Given the description of an element on the screen output the (x, y) to click on. 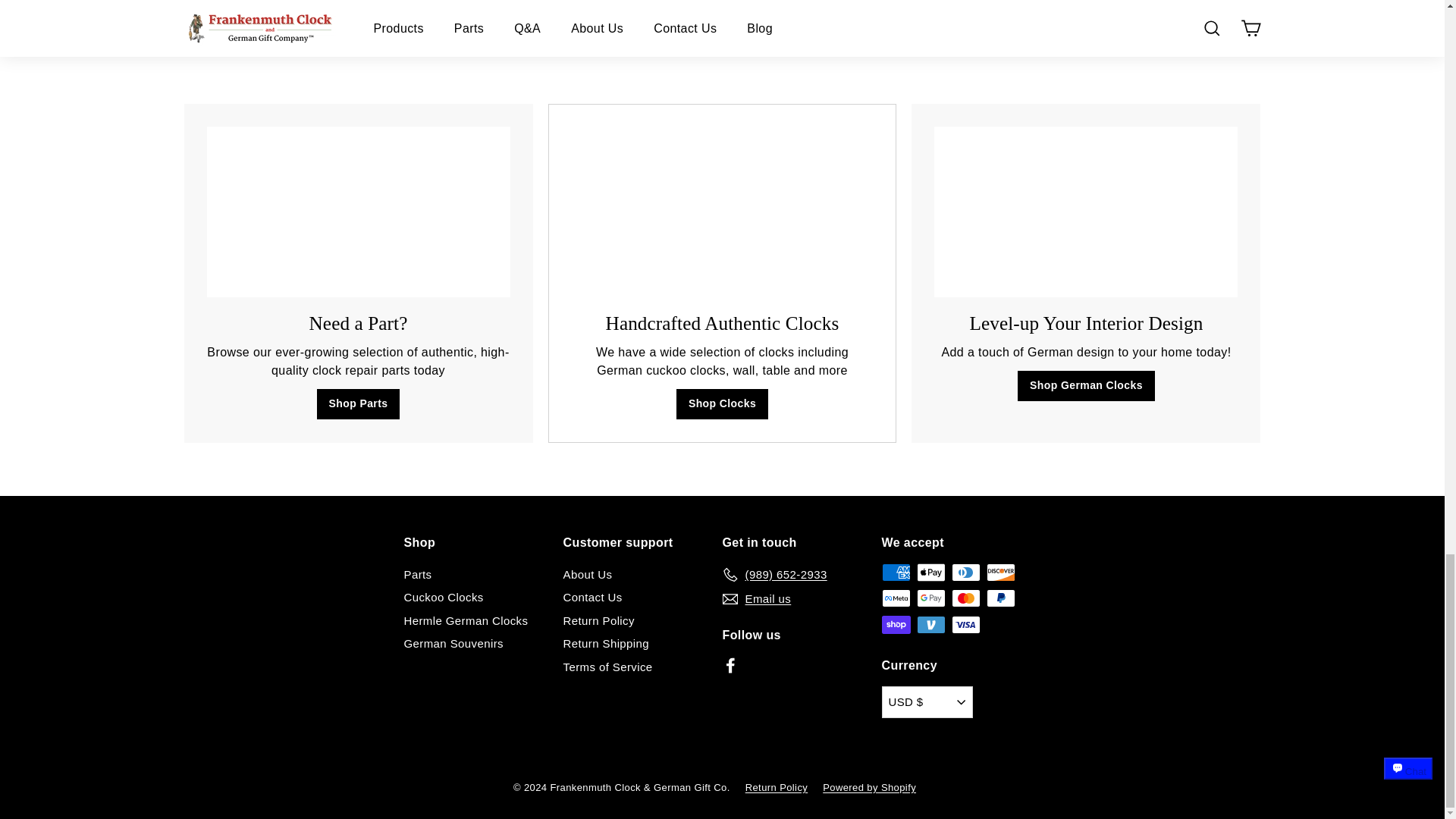
PayPal (999, 597)
Google Pay (929, 597)
Diners Club (964, 572)
Meta Pay (895, 597)
Shop Pay (895, 624)
Discover (999, 572)
Mastercard (964, 597)
American Express (895, 572)
Apple Pay (929, 572)
